Given the description of an element on the screen output the (x, y) to click on. 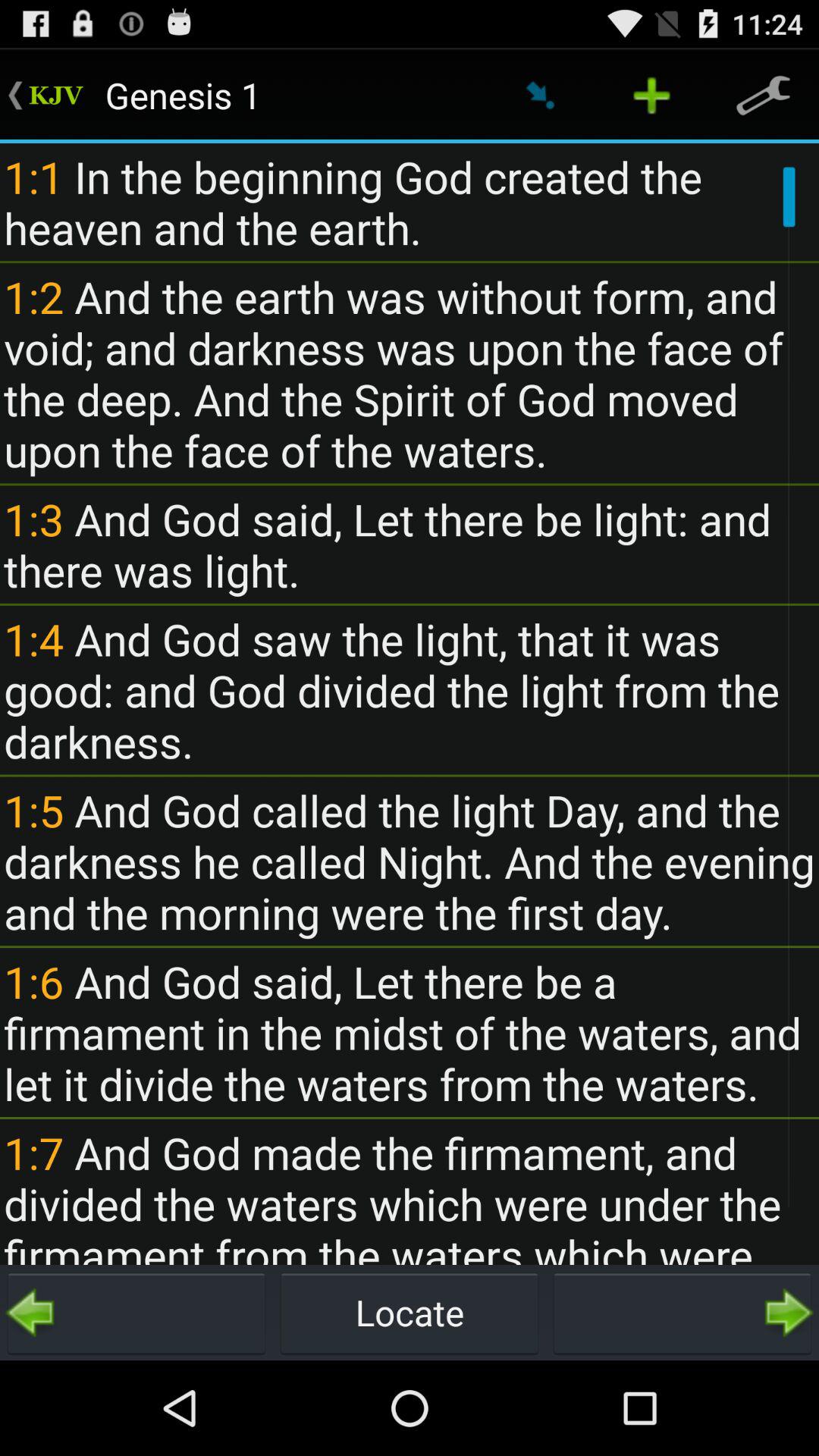
see more passages (682, 1312)
